Given the description of an element on the screen output the (x, y) to click on. 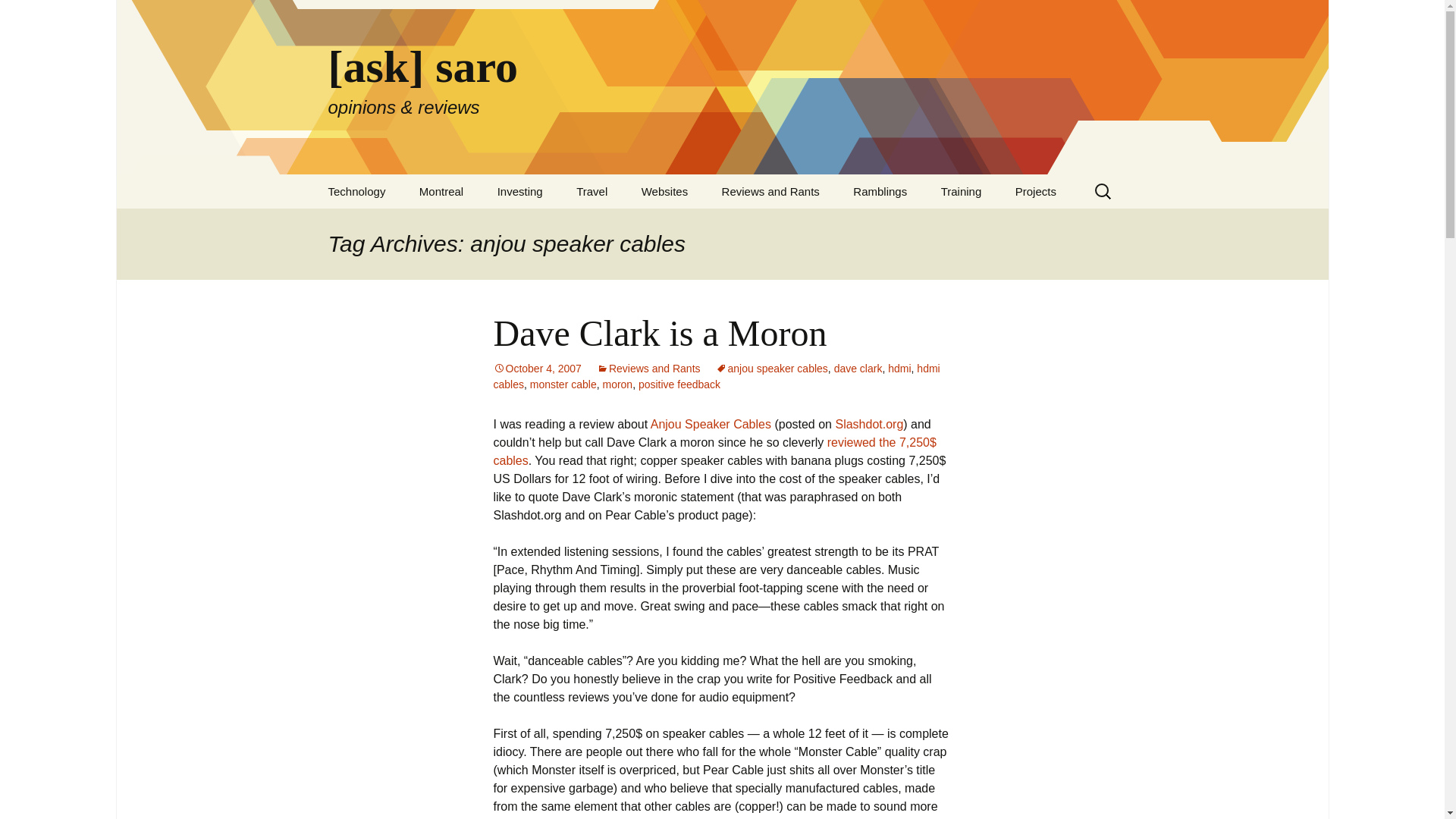
Search (18, 15)
Reviews and Rants (648, 368)
anjou speaker cables (772, 368)
Montreal (441, 191)
Training (961, 191)
Ramblings (879, 191)
dave clark (858, 368)
Projects (1035, 191)
positive feedback (679, 384)
